Given the description of an element on the screen output the (x, y) to click on. 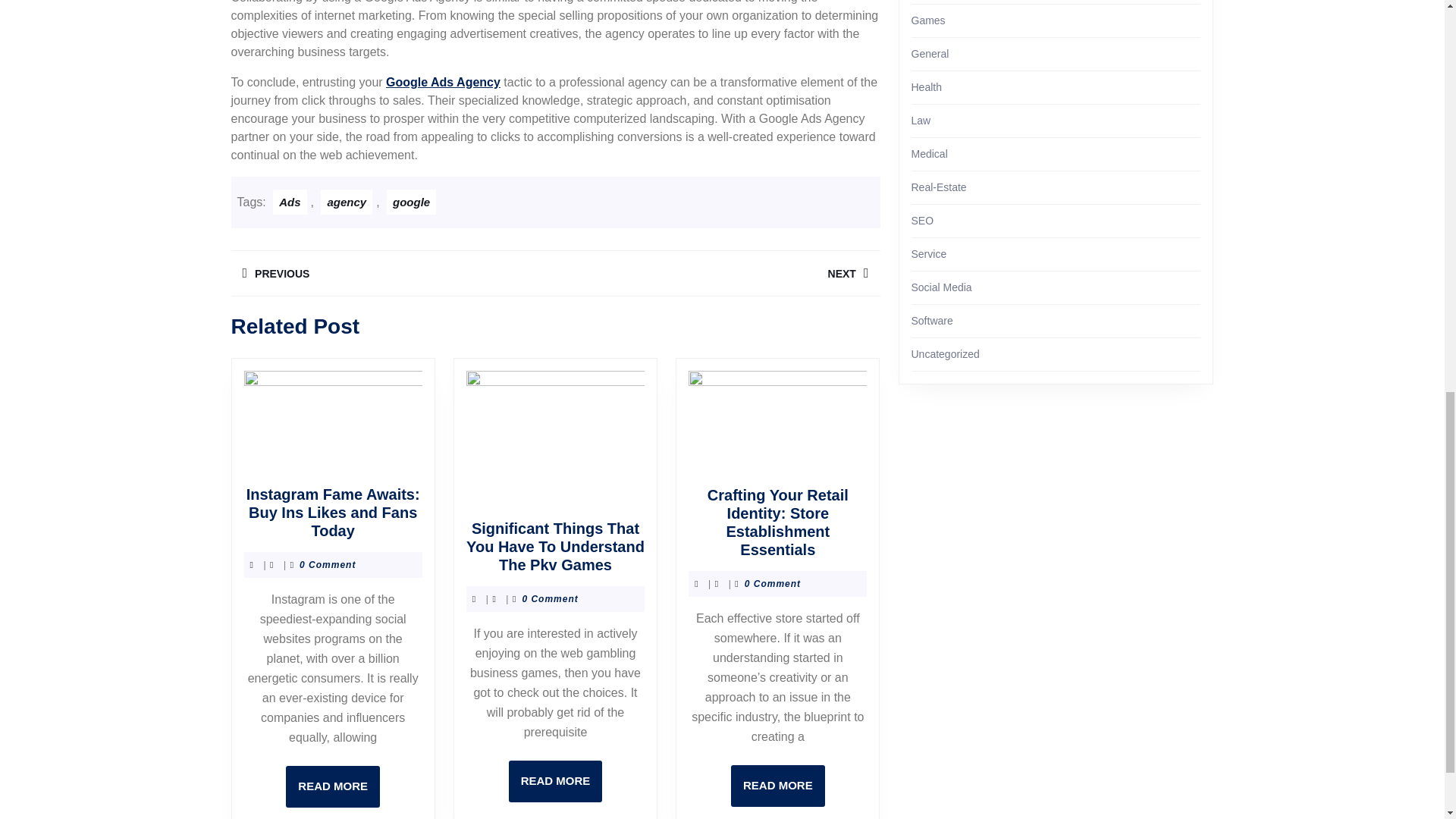
Google Ads Agency (442, 82)
agency (716, 273)
Ads (555, 781)
google (346, 201)
